Given the description of an element on the screen output the (x, y) to click on. 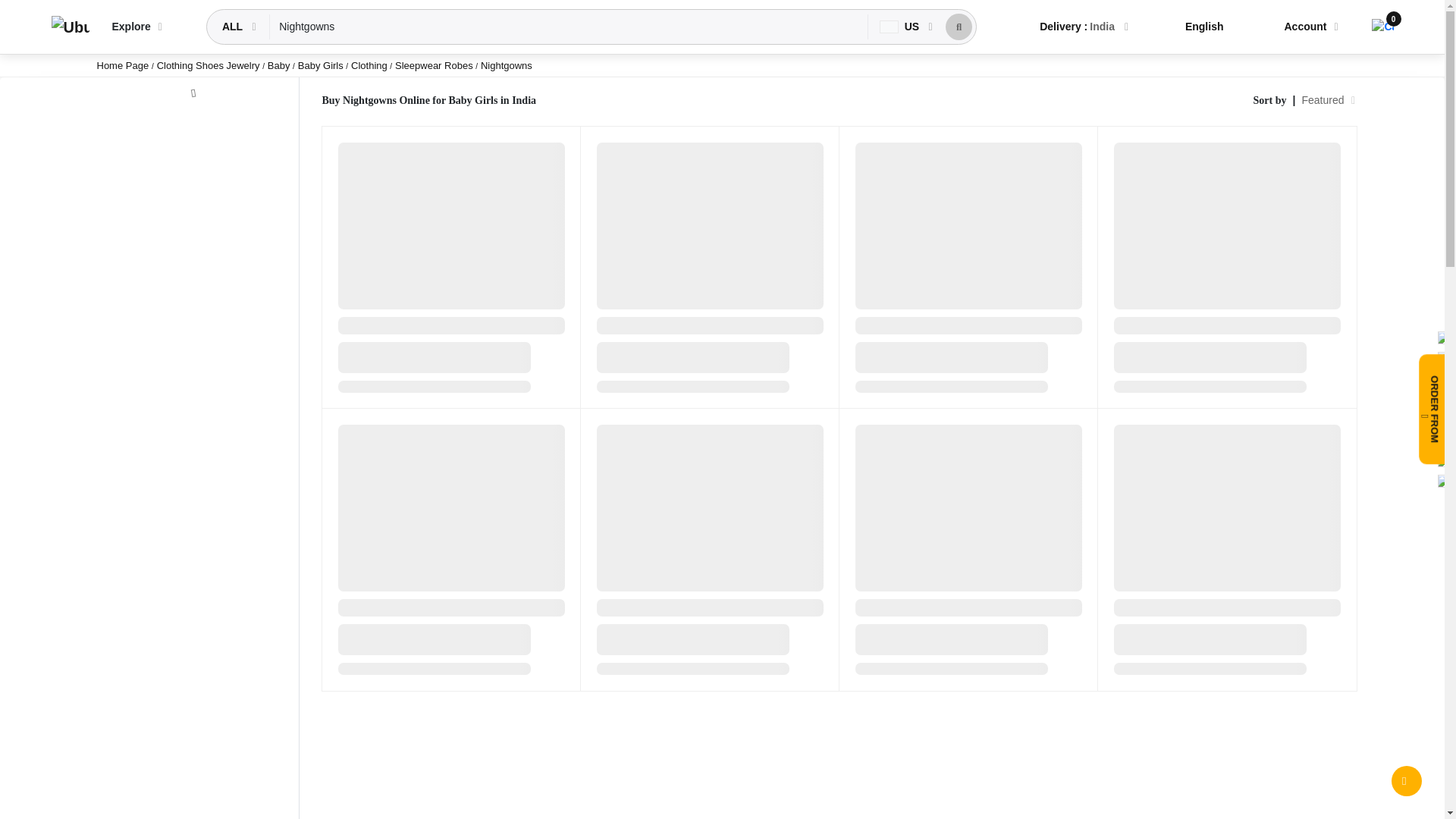
Nightgowns (568, 26)
Ubuy (69, 27)
US (900, 26)
0 (1382, 27)
ALL (234, 26)
